Given the description of an element on the screen output the (x, y) to click on. 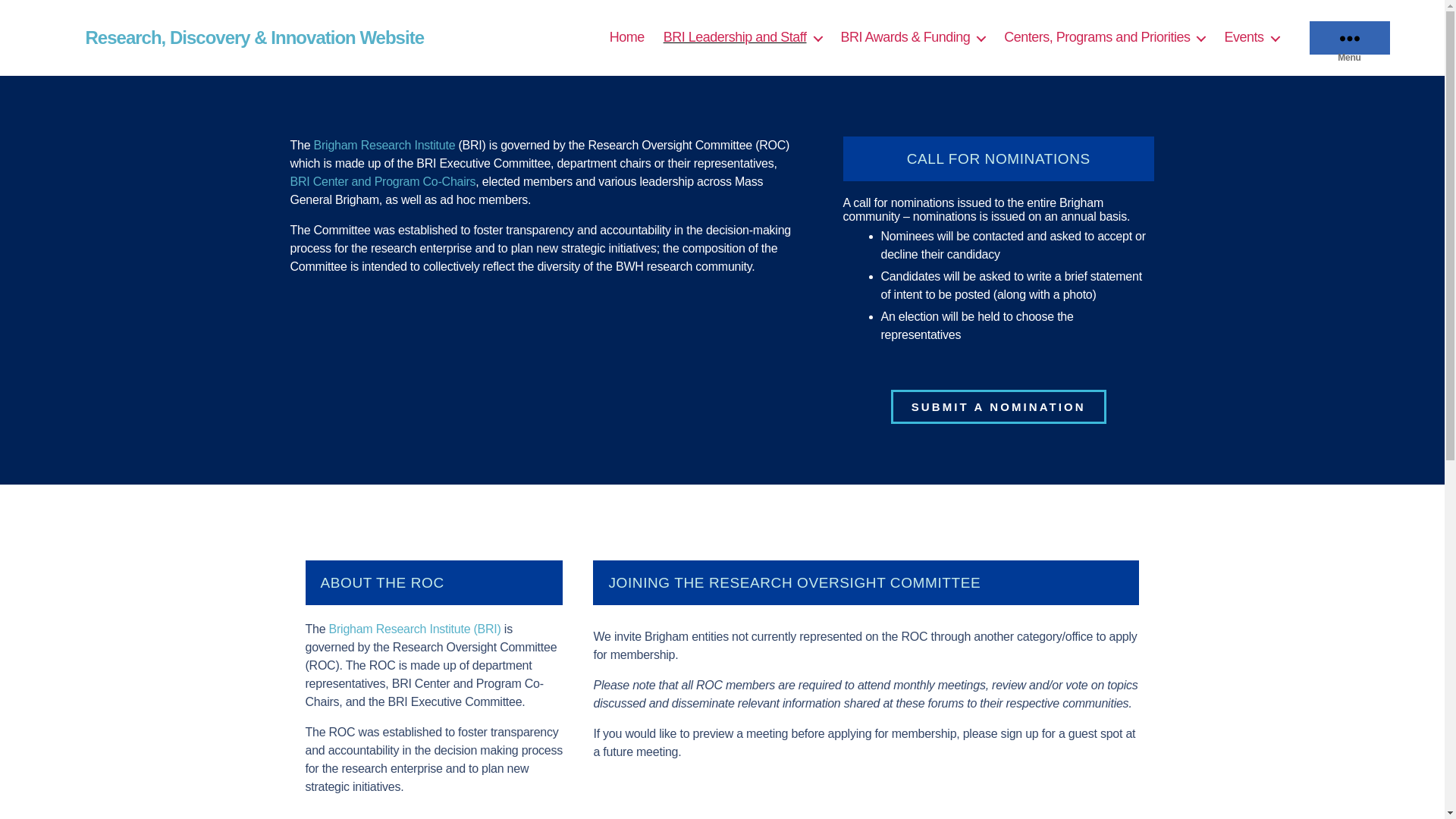
Events (1251, 37)
Home (627, 37)
BRI Leadership and Staff (742, 37)
Menu (1348, 37)
Centers, Programs and Priorities (1104, 37)
